Given the description of an element on the screen output the (x, y) to click on. 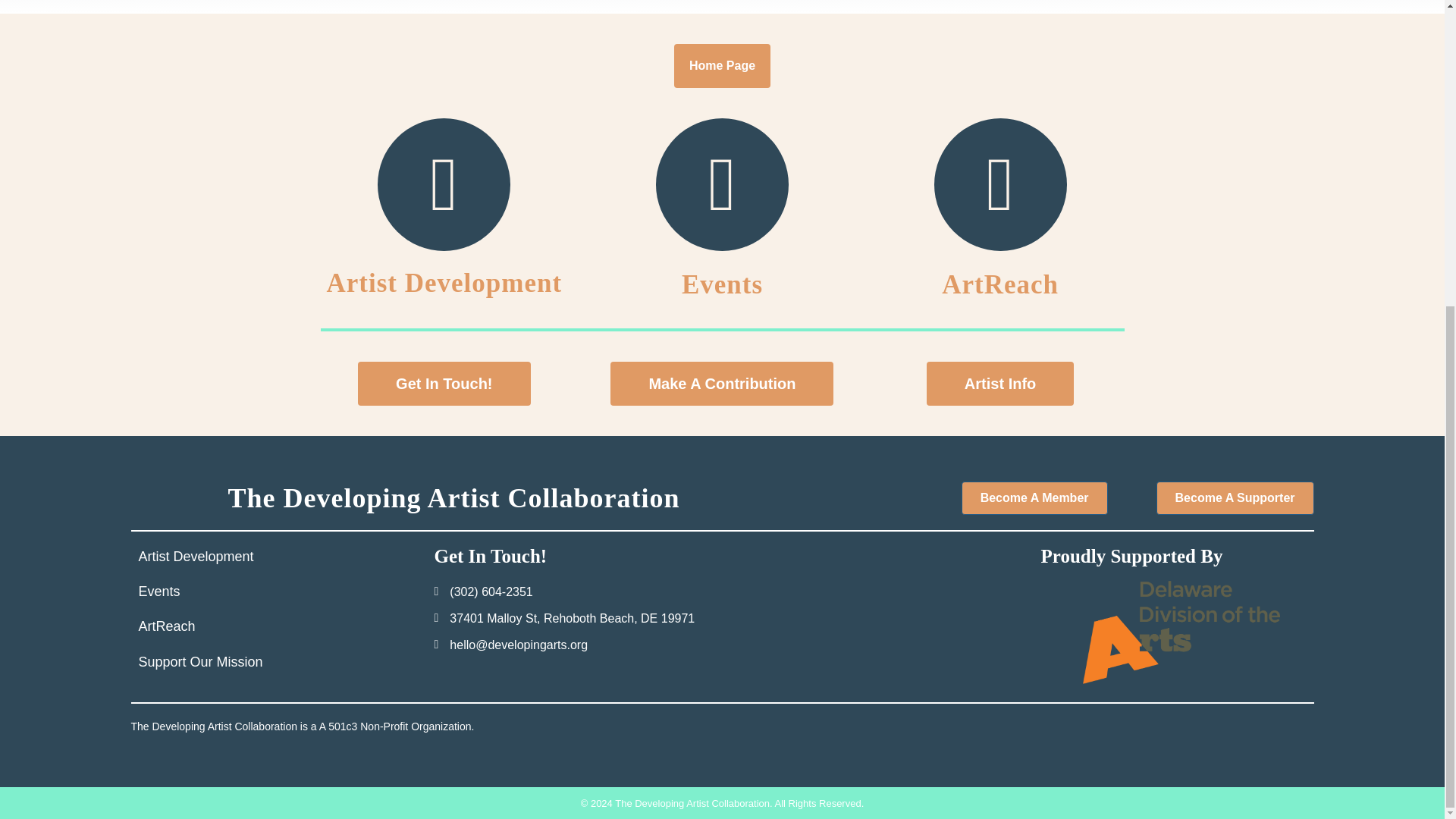
FinalDivArtsLogoStackColor-20230808-172737 (1181, 631)
Artist Development (444, 283)
ArtReach (1000, 284)
Events (721, 284)
